Given the description of an element on the screen output the (x, y) to click on. 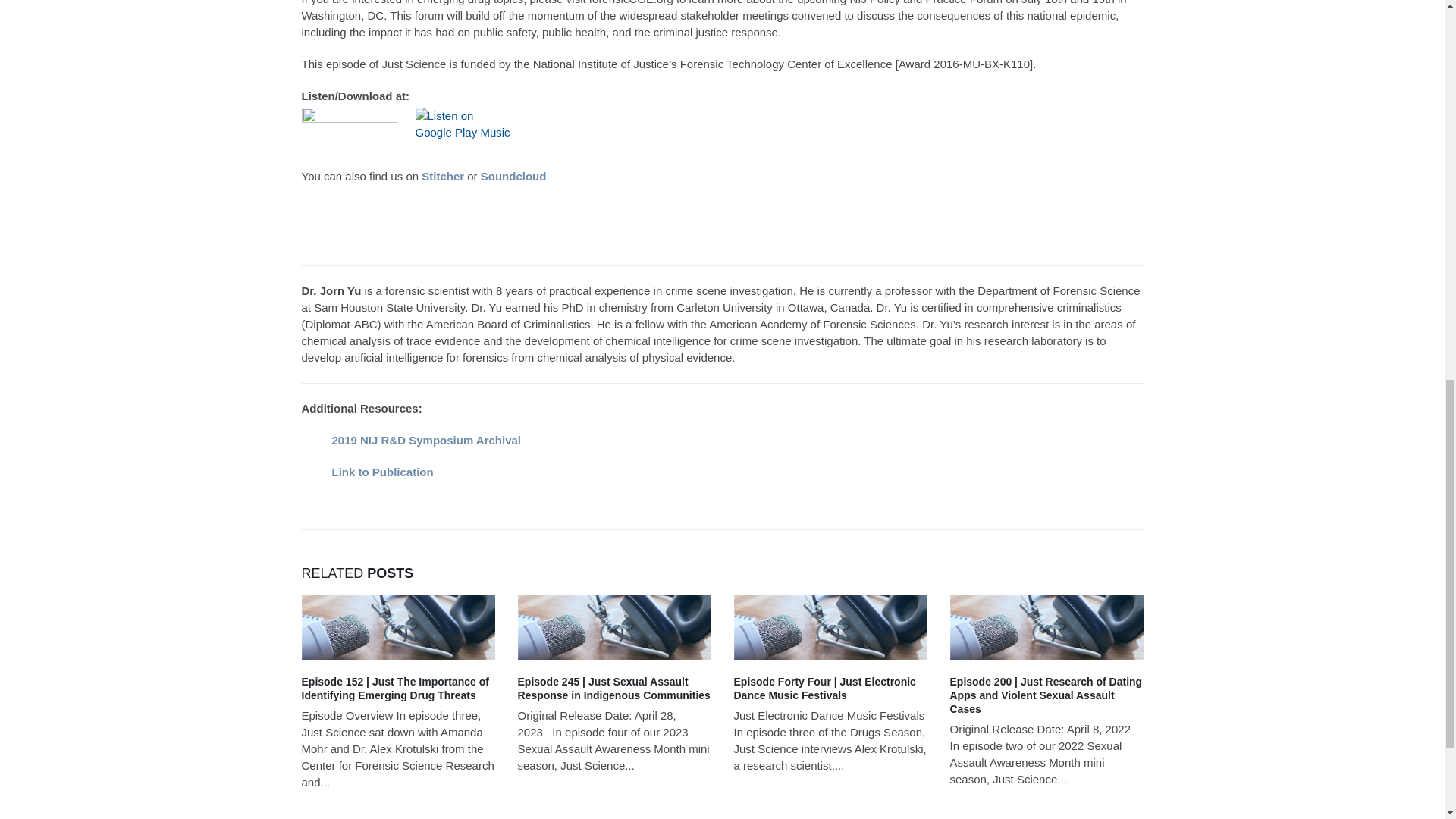
Soundcloud  (515, 175)
Stitcher (443, 175)
Link to Publication (382, 472)
